Given the description of an element on the screen output the (x, y) to click on. 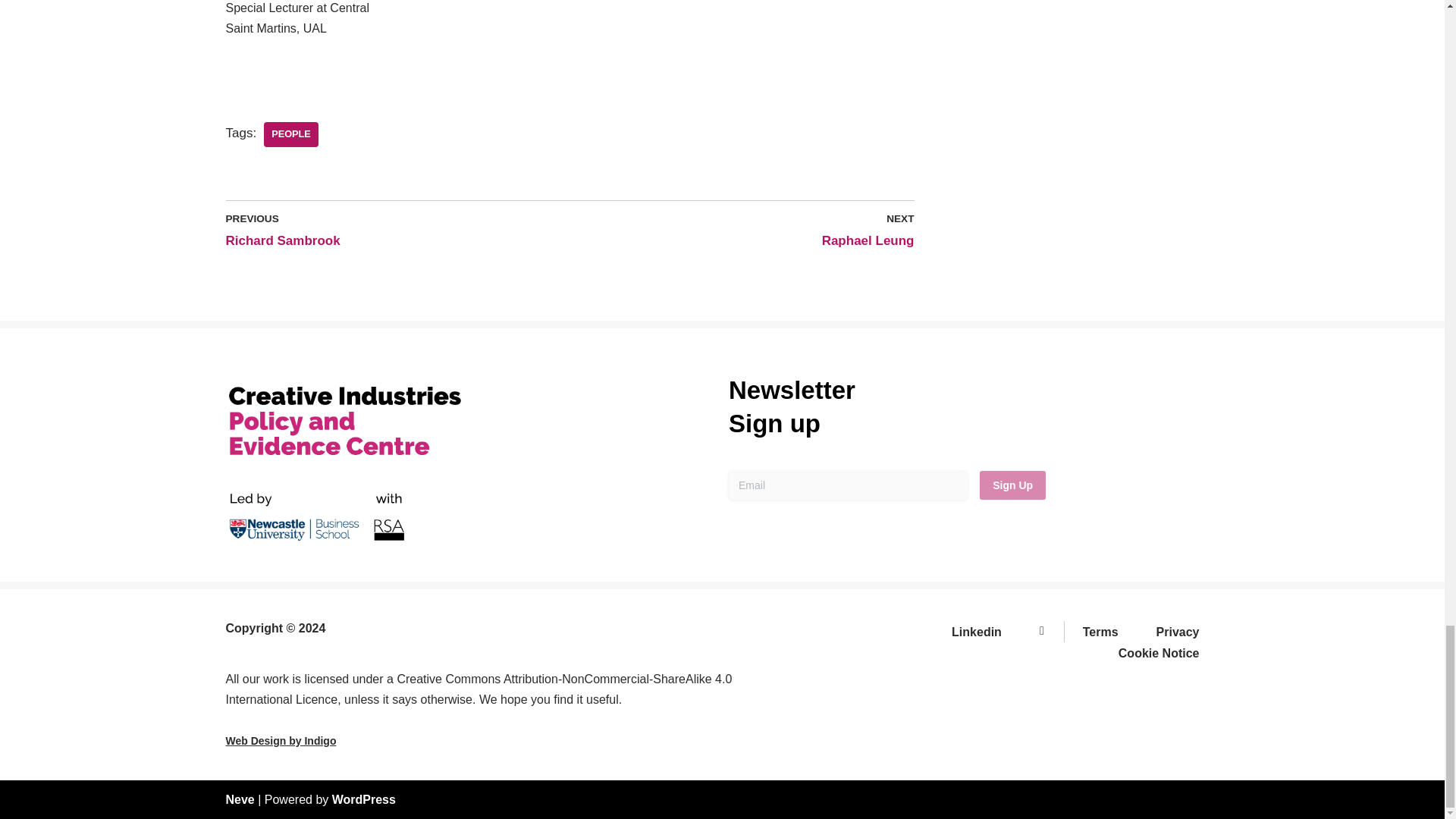
Sign Up (1012, 484)
Linkedin (984, 631)
People (290, 134)
